Given the description of an element on the screen output the (x, y) to click on. 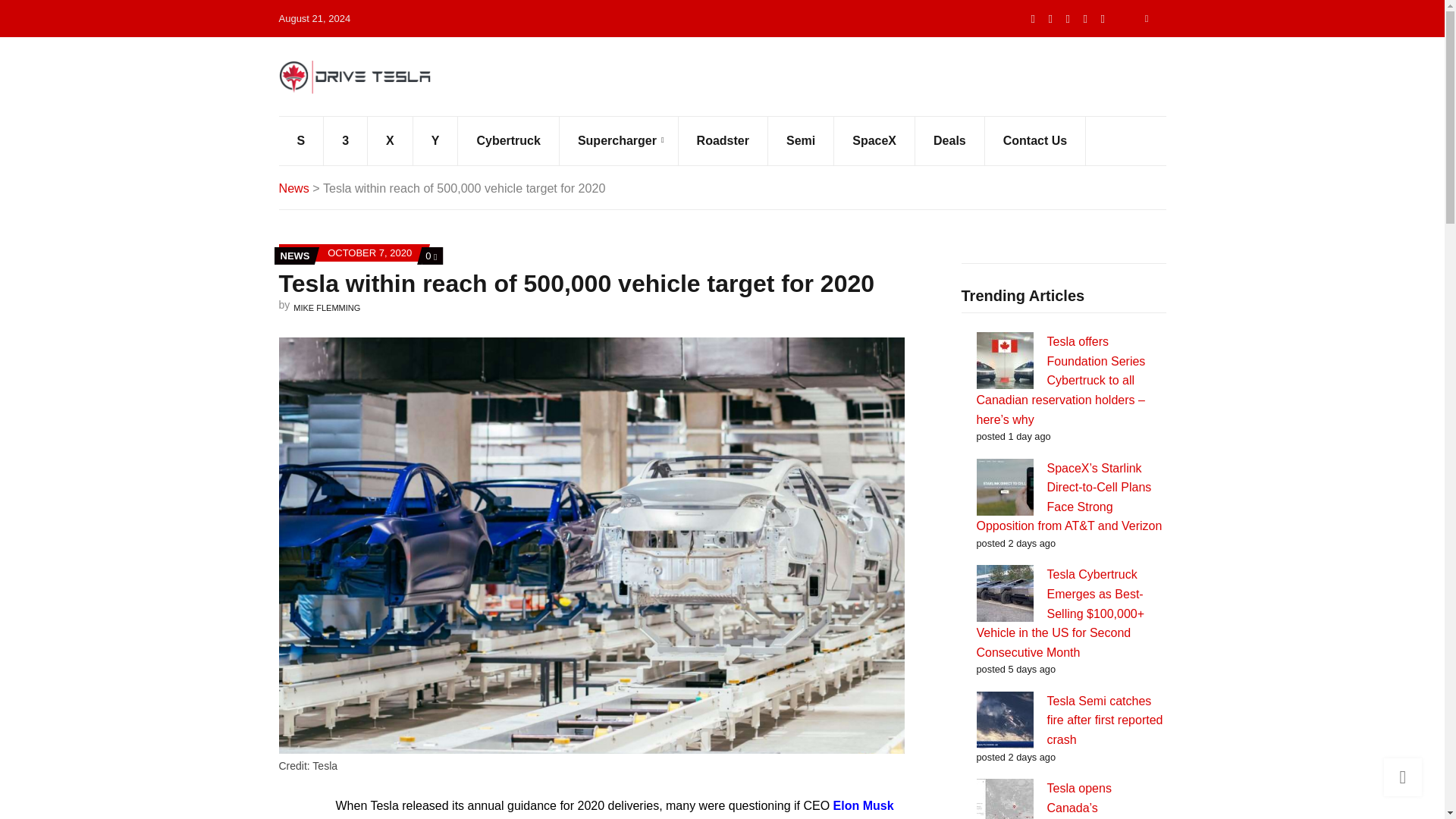
Go to the News category archives. (293, 187)
Elon Musk (862, 805)
Y (435, 141)
NEWS (295, 255)
Supercharger (618, 141)
MIKE FLEMMING (326, 307)
3 (345, 141)
Instagram (1102, 18)
Deals (950, 141)
X (390, 141)
